Given the description of an element on the screen output the (x, y) to click on. 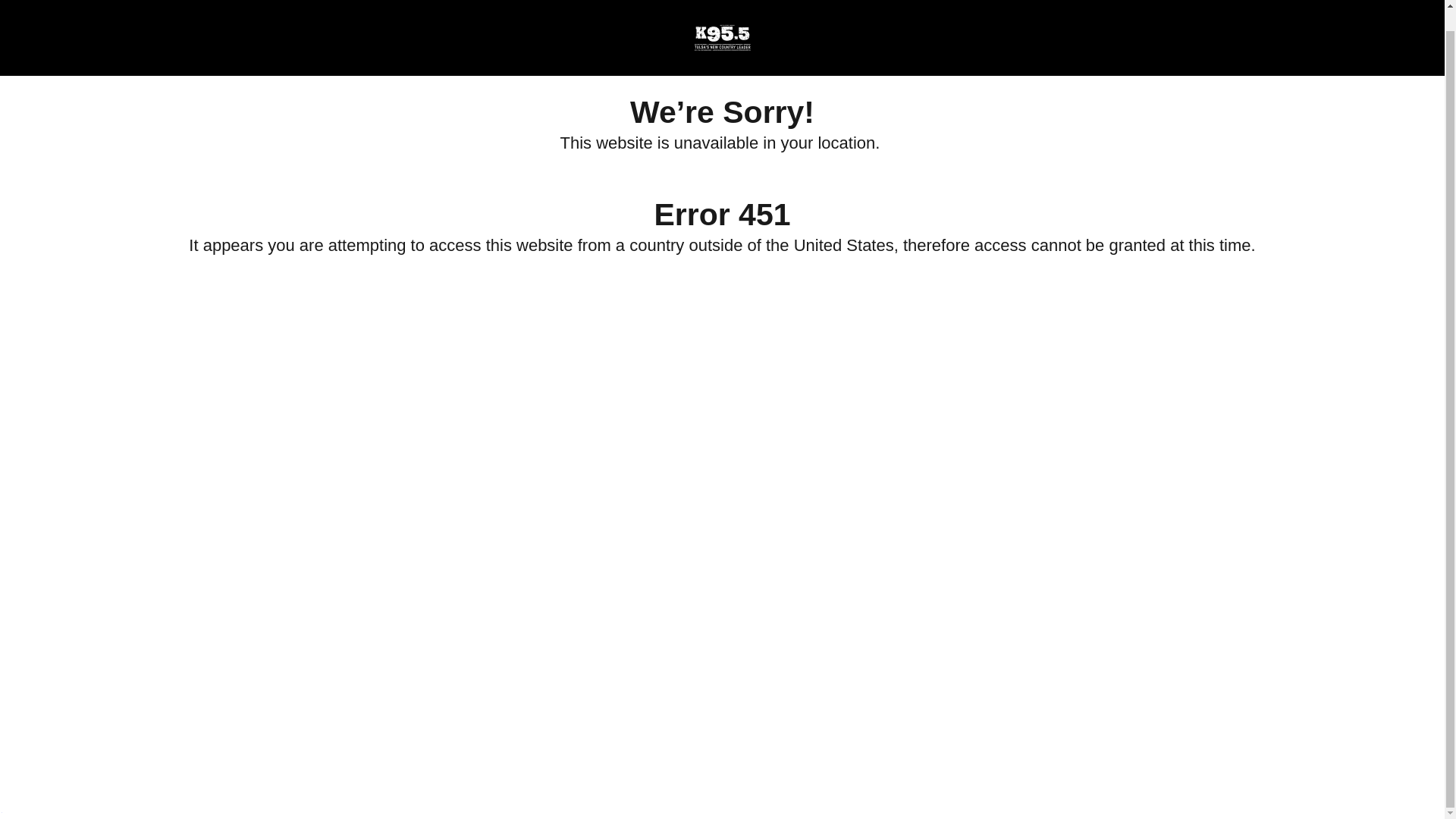
K95.5 Tulsa (721, 17)
